Given the description of an element on the screen output the (x, y) to click on. 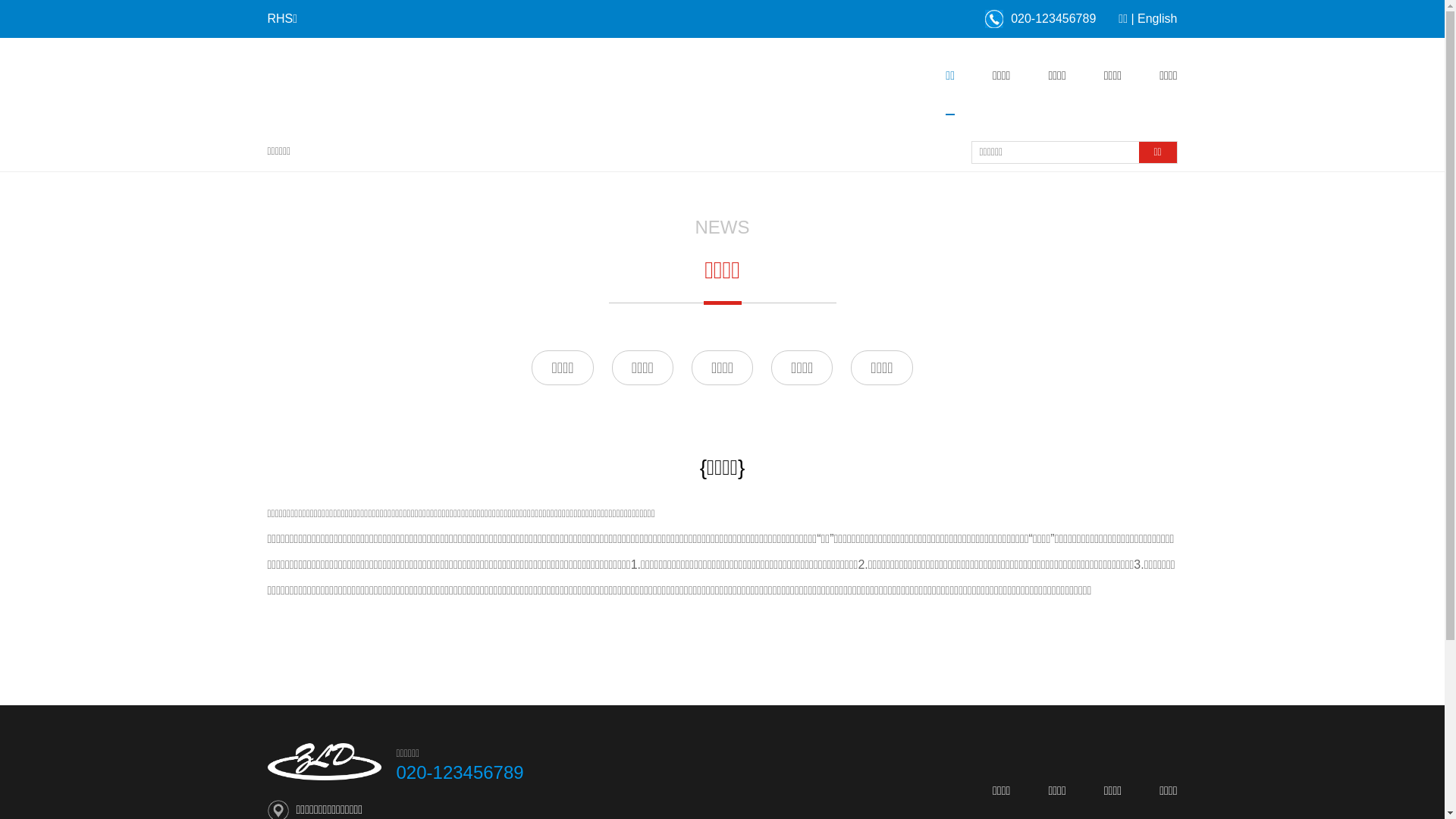
English Element type: text (1156, 18)
